Given the description of an element on the screen output the (x, y) to click on. 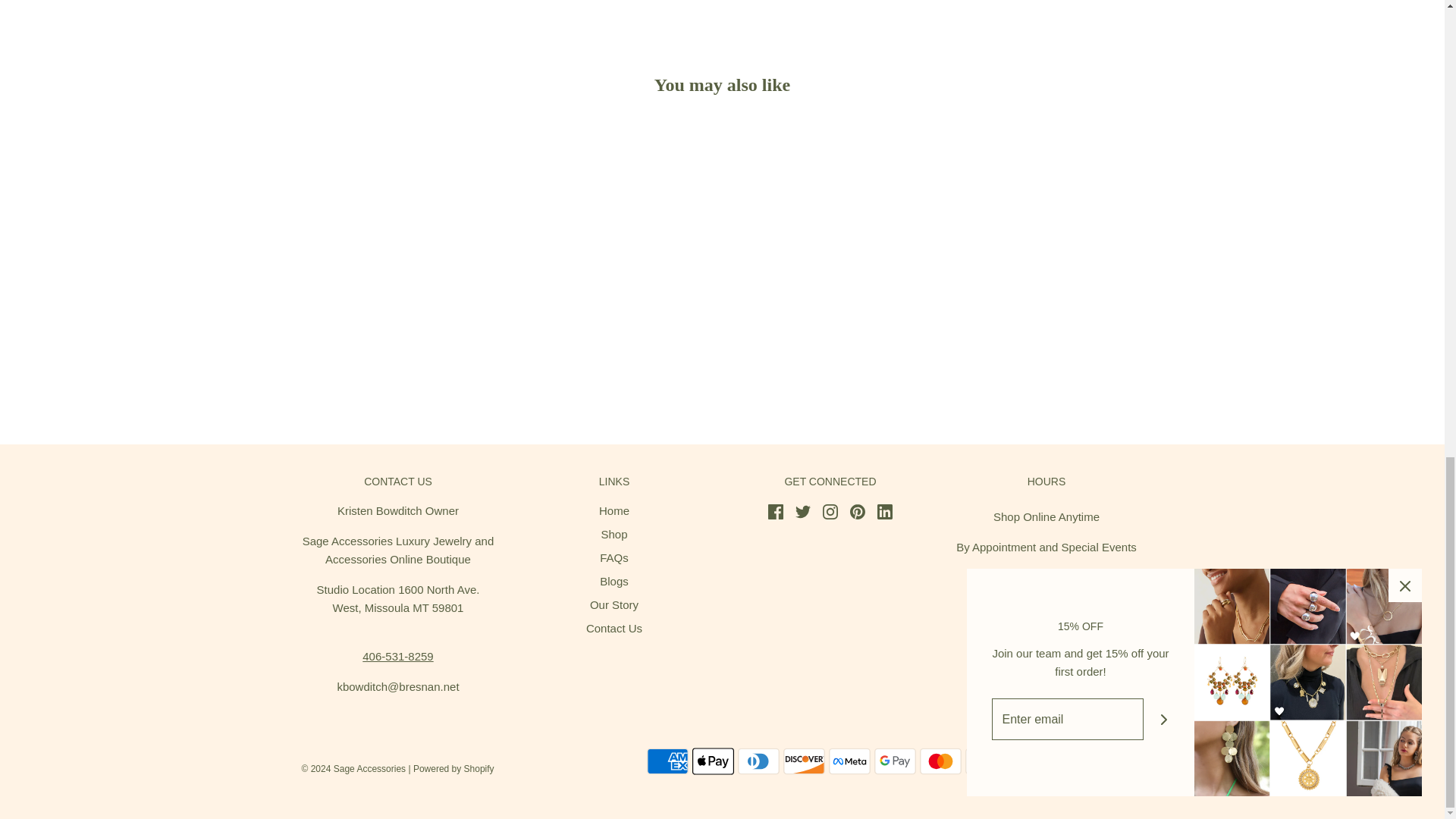
Apple Pay (712, 761)
LinkedIn icon (884, 511)
Instagram icon (830, 511)
Discover (803, 761)
Pinterest icon (857, 511)
Facebook icon (775, 511)
American Express (666, 761)
Twitter icon (802, 511)
Meta Pay (848, 761)
Diners Club (757, 761)
